Given the description of an element on the screen output the (x, y) to click on. 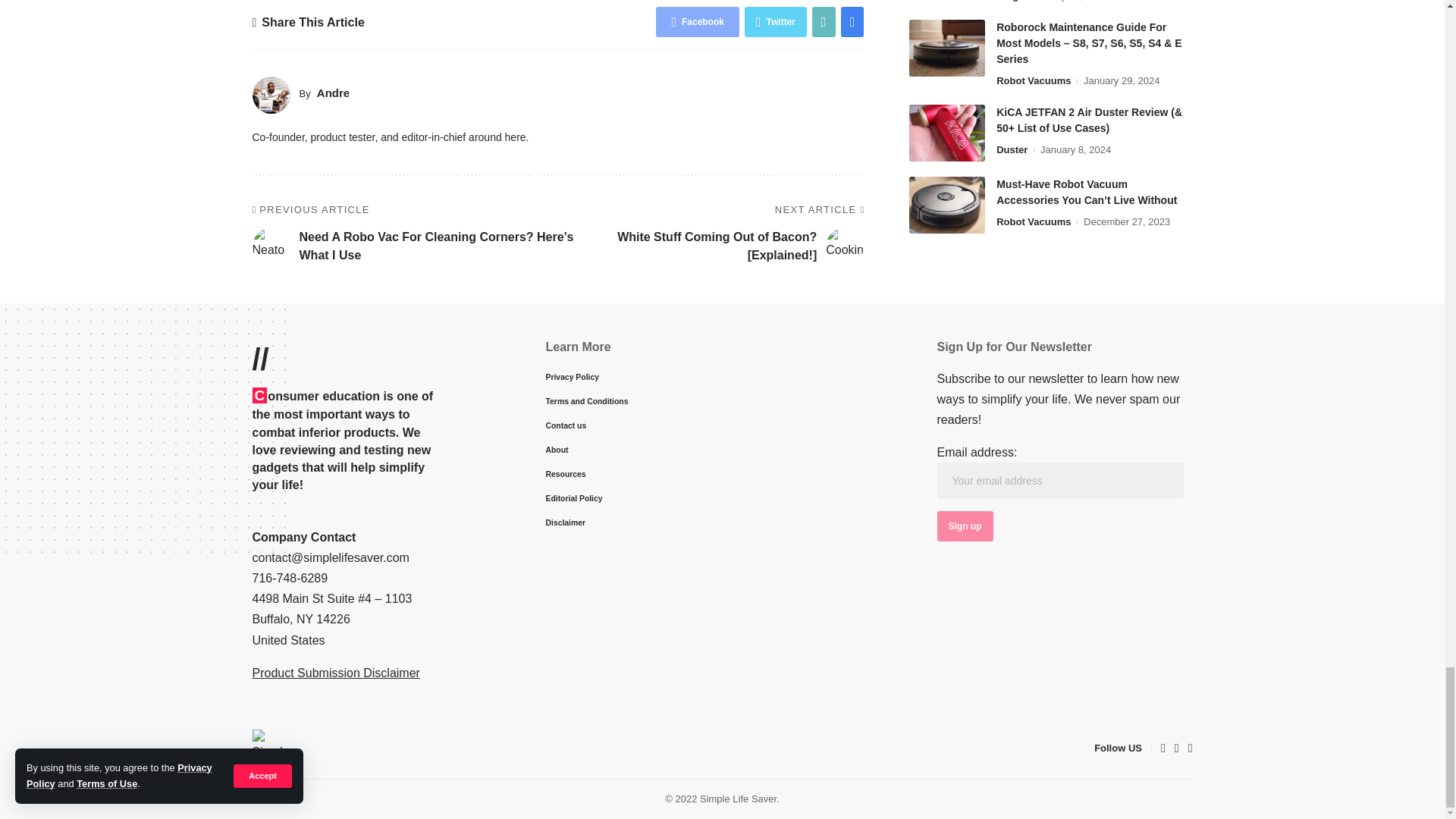
Simple Lifesaver (270, 748)
Sign up (964, 526)
